Given the description of an element on the screen output the (x, y) to click on. 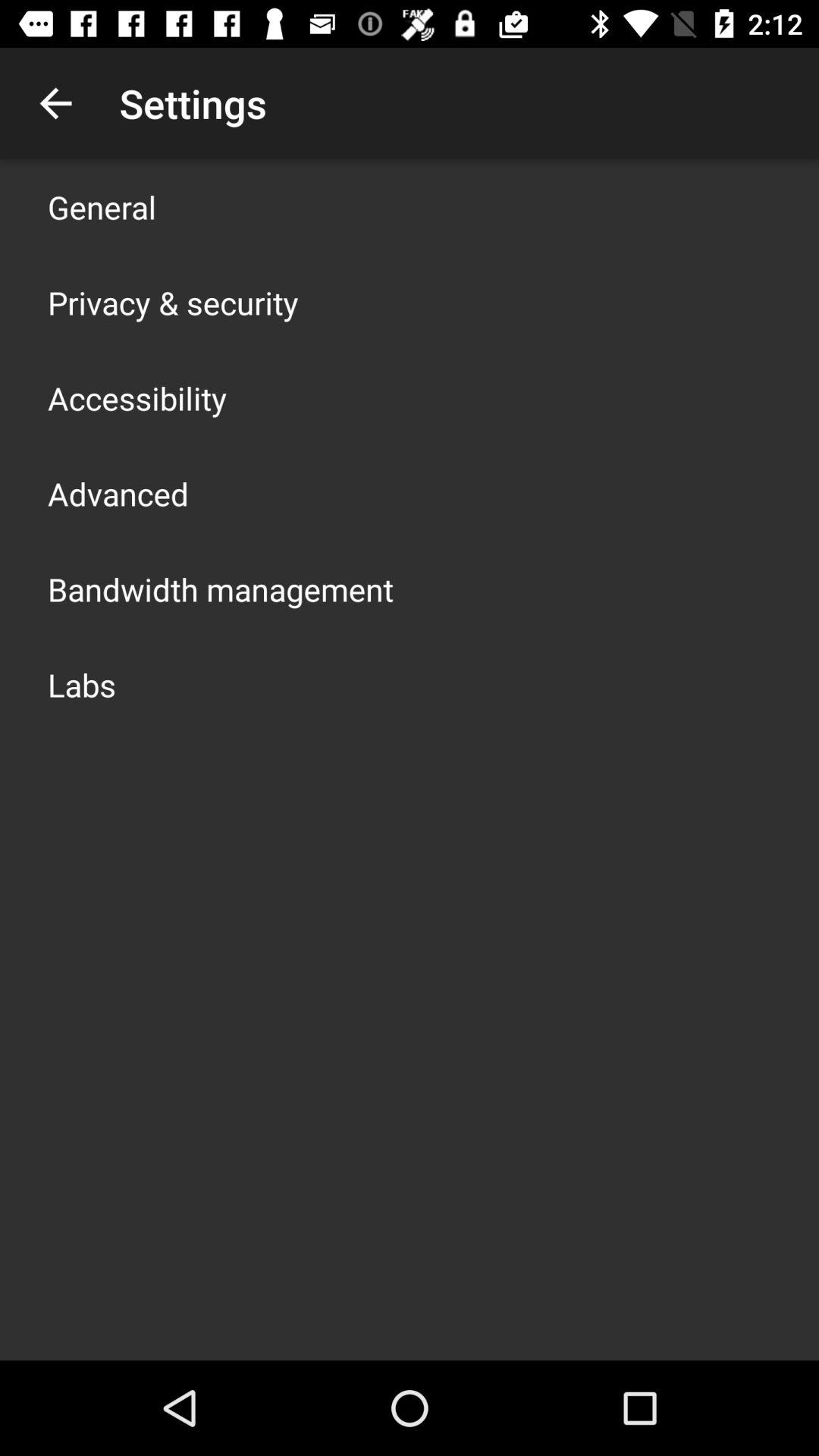
turn on accessibility app (136, 397)
